Given the description of an element on the screen output the (x, y) to click on. 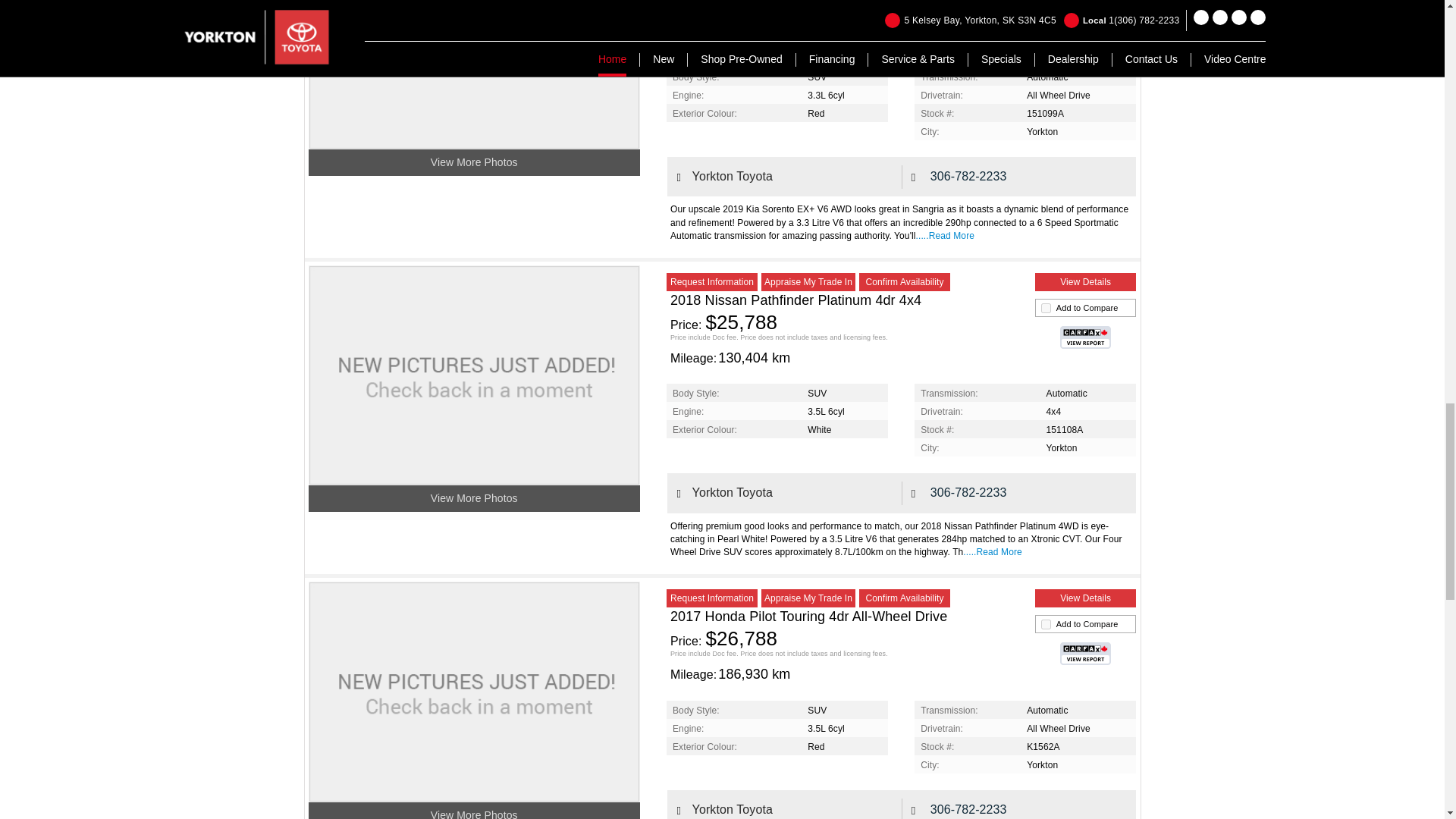
unchecked (1046, 307)
unchecked (1046, 624)
